Given the description of an element on the screen output the (x, y) to click on. 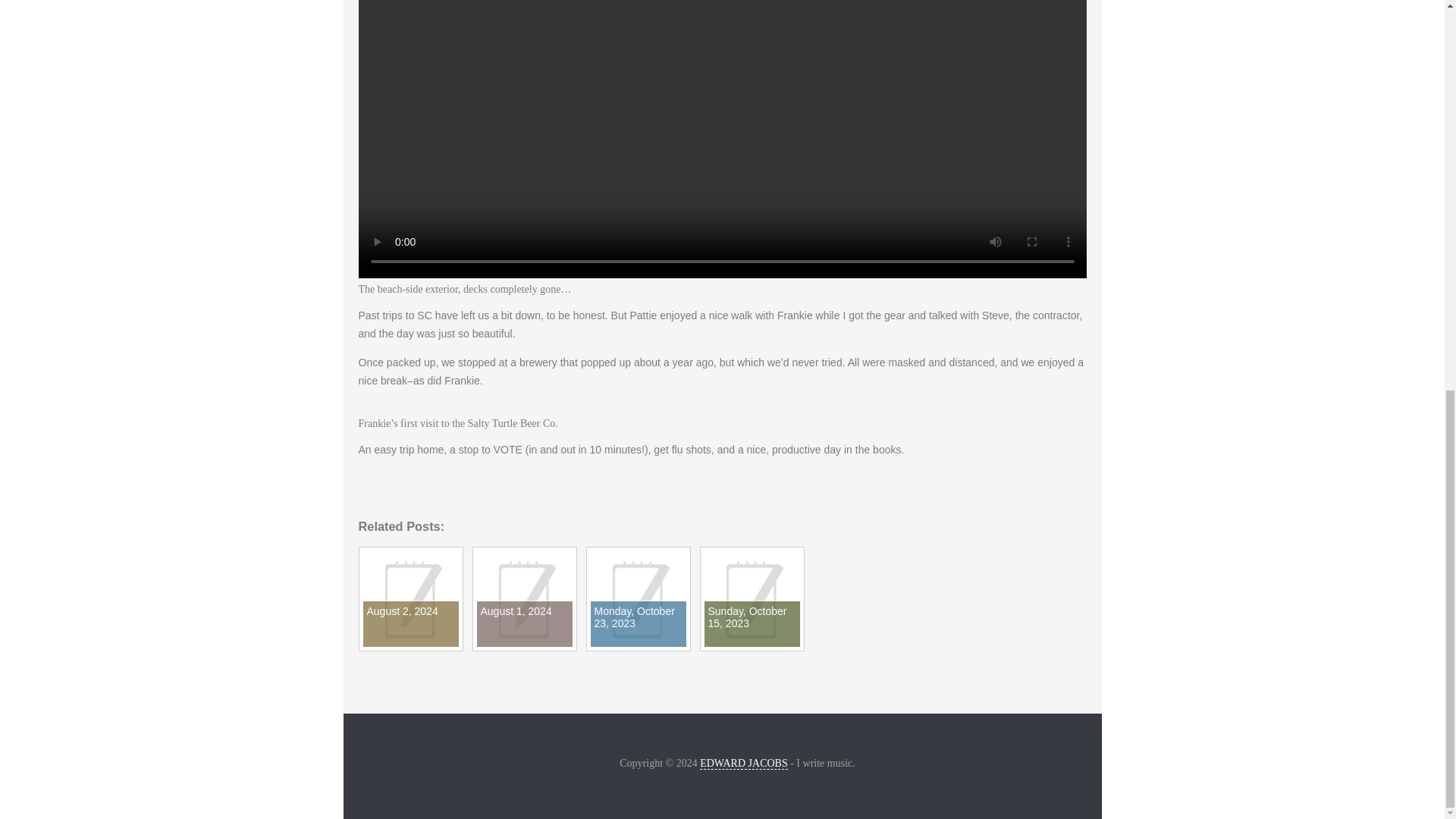
Permalink to Sunday, October 15, 2023 (751, 643)
Permalink to August 2, 2024 (410, 643)
EDWARD JACOBS (743, 763)
Permalink to August 1, 2024 (524, 643)
Permalink to Monday, October 23, 2023 (637, 643)
